Given the description of an element on the screen output the (x, y) to click on. 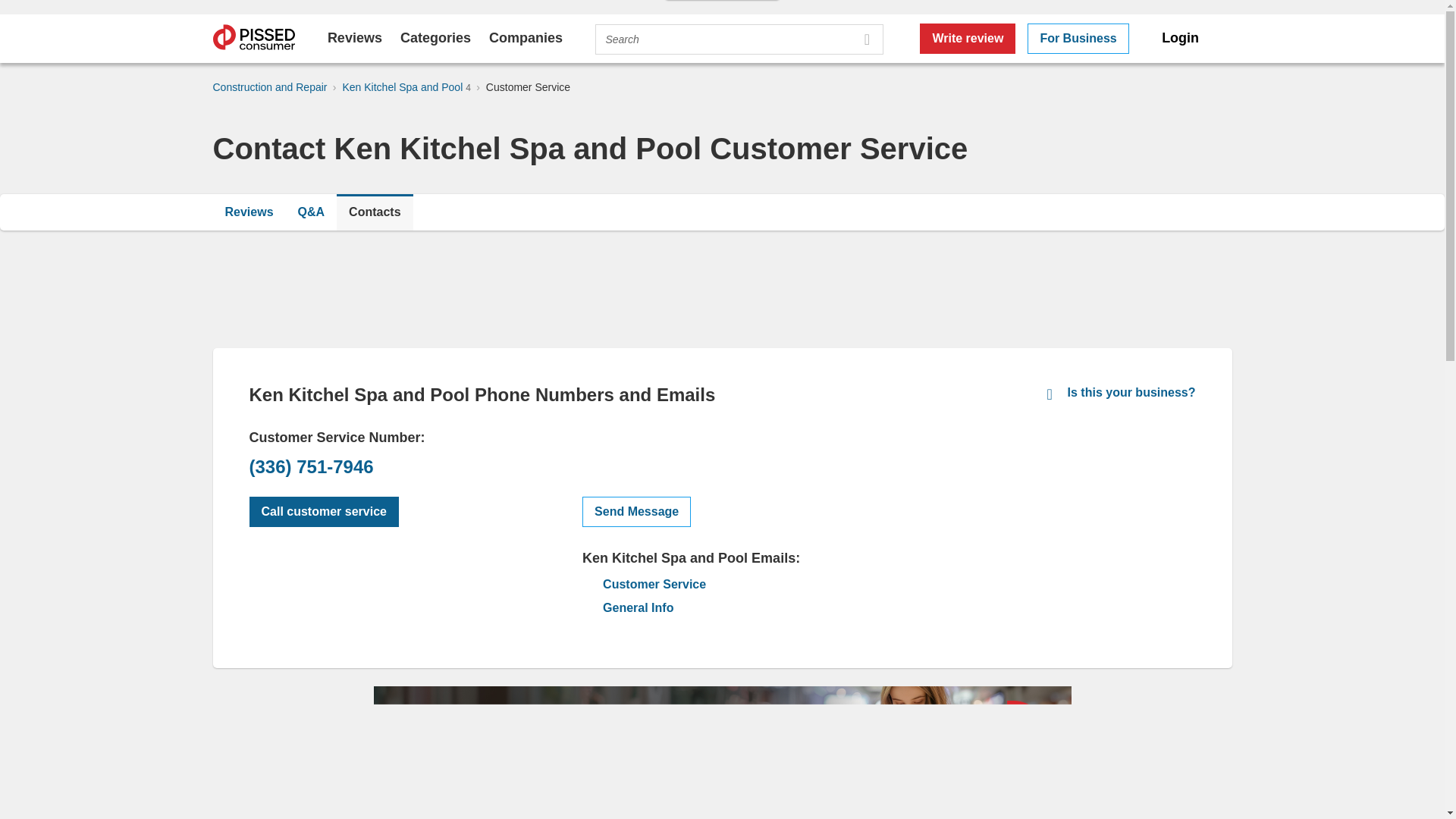
Advertisement (1081, 536)
Write review (967, 38)
Ken Kitchel Spa and Pool (403, 87)
Construction and Repair (269, 87)
Contacts (374, 212)
Companies (525, 37)
Reviews (354, 37)
Categories (435, 37)
PissedConsumer (253, 38)
For Business (1077, 38)
